Given the description of an element on the screen output the (x, y) to click on. 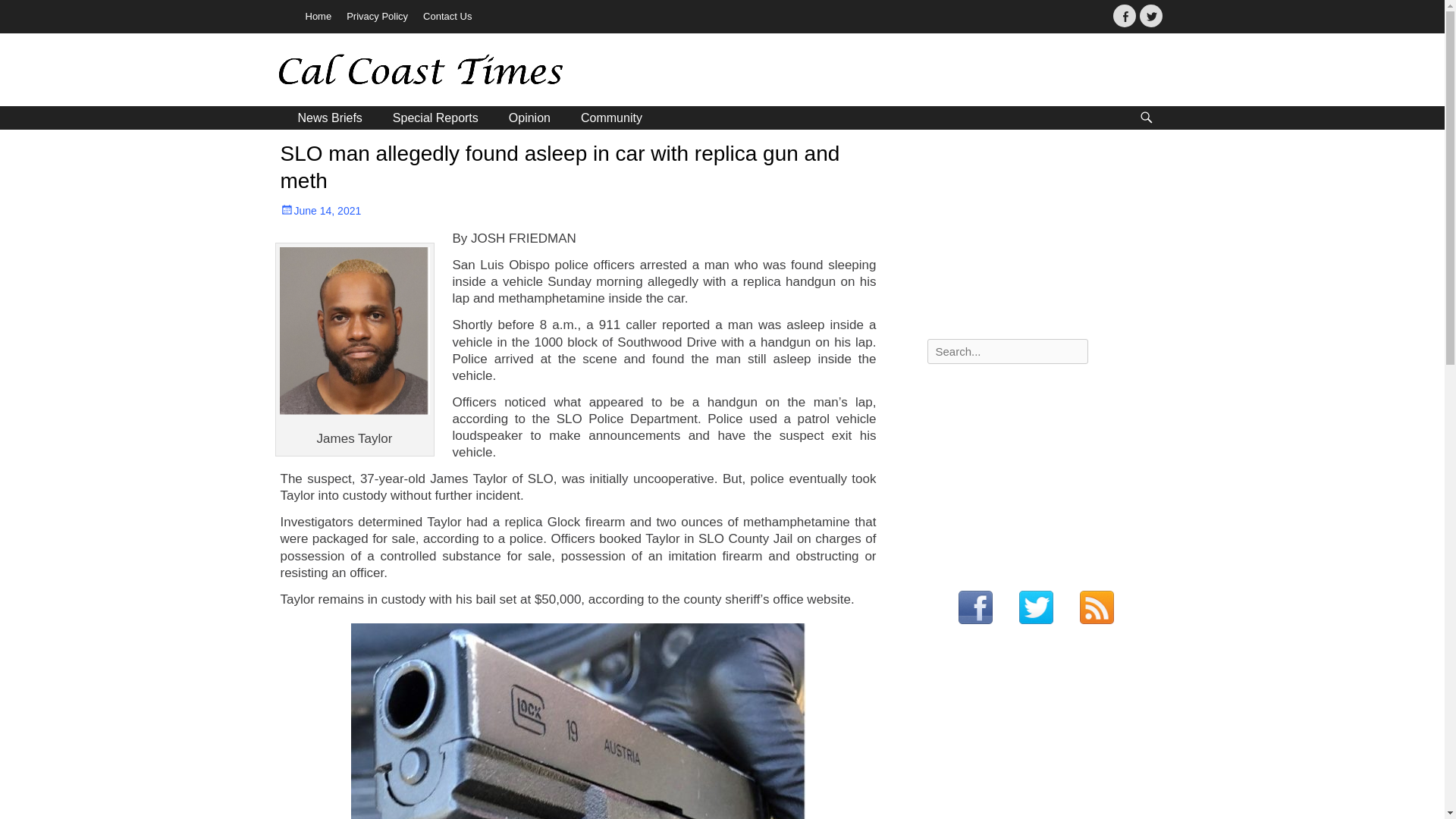
Special Reports (435, 117)
3rd party ad content (1040, 737)
Home (318, 16)
Community (612, 117)
Facebook (1124, 15)
Cal Coast Times RSS Feed (1096, 608)
3rd party ad content (1040, 470)
News Briefs (329, 117)
Cal Coast Times (386, 72)
3rd party ad content (1040, 236)
Cal Coast Times on Facebook (974, 608)
Twitter (1149, 15)
Opinion (529, 117)
Twitter (1149, 15)
